Given the description of an element on the screen output the (x, y) to click on. 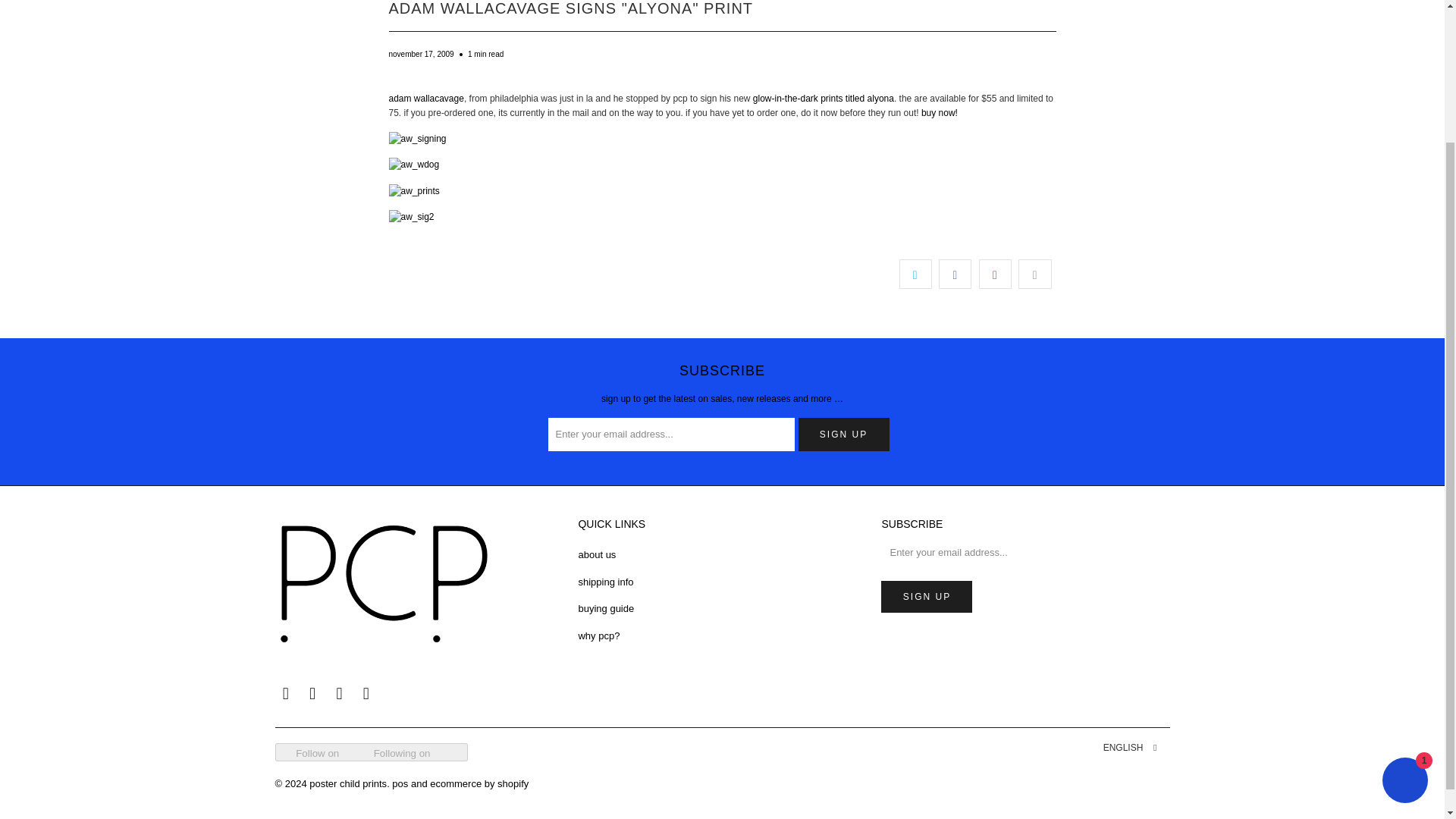
Share this on Facebook (955, 274)
Sign Up (842, 434)
Share this on Twitter (915, 274)
Sign Up (926, 596)
Share this on Pinterest (994, 274)
